Given the description of an element on the screen output the (x, y) to click on. 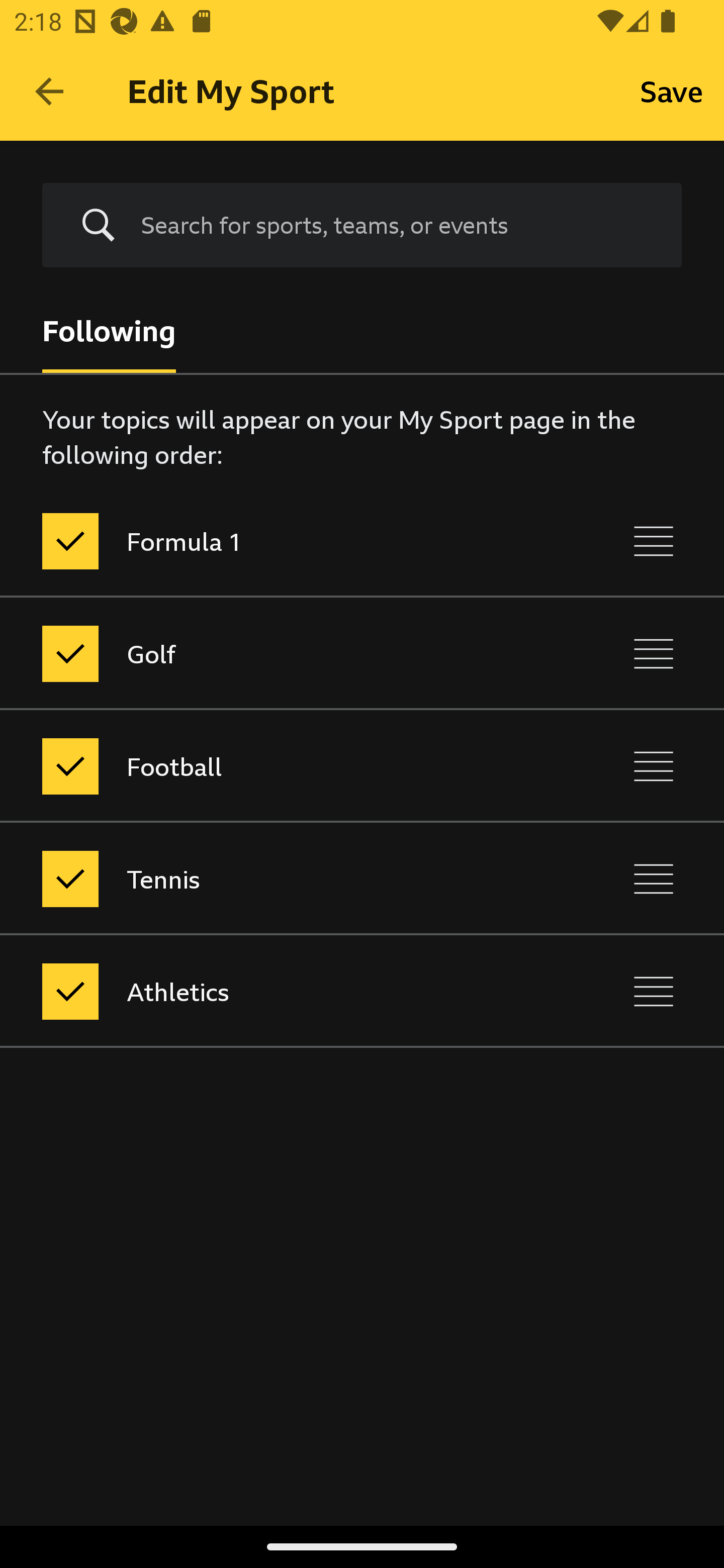
Navigate up (49, 91)
Save (671, 90)
Search for sports, teams, or events (361, 225)
Search for sports, teams, or events (396, 224)
Formula 1 (277, 540)
Reorder Formula 1 (653, 540)
Golf (277, 653)
Reorder Golf (653, 653)
Football (277, 766)
Reorder Football (653, 766)
Tennis (277, 878)
Reorder Tennis (653, 878)
Athletics (277, 990)
Reorder Athletics (653, 990)
